Given the description of an element on the screen output the (x, y) to click on. 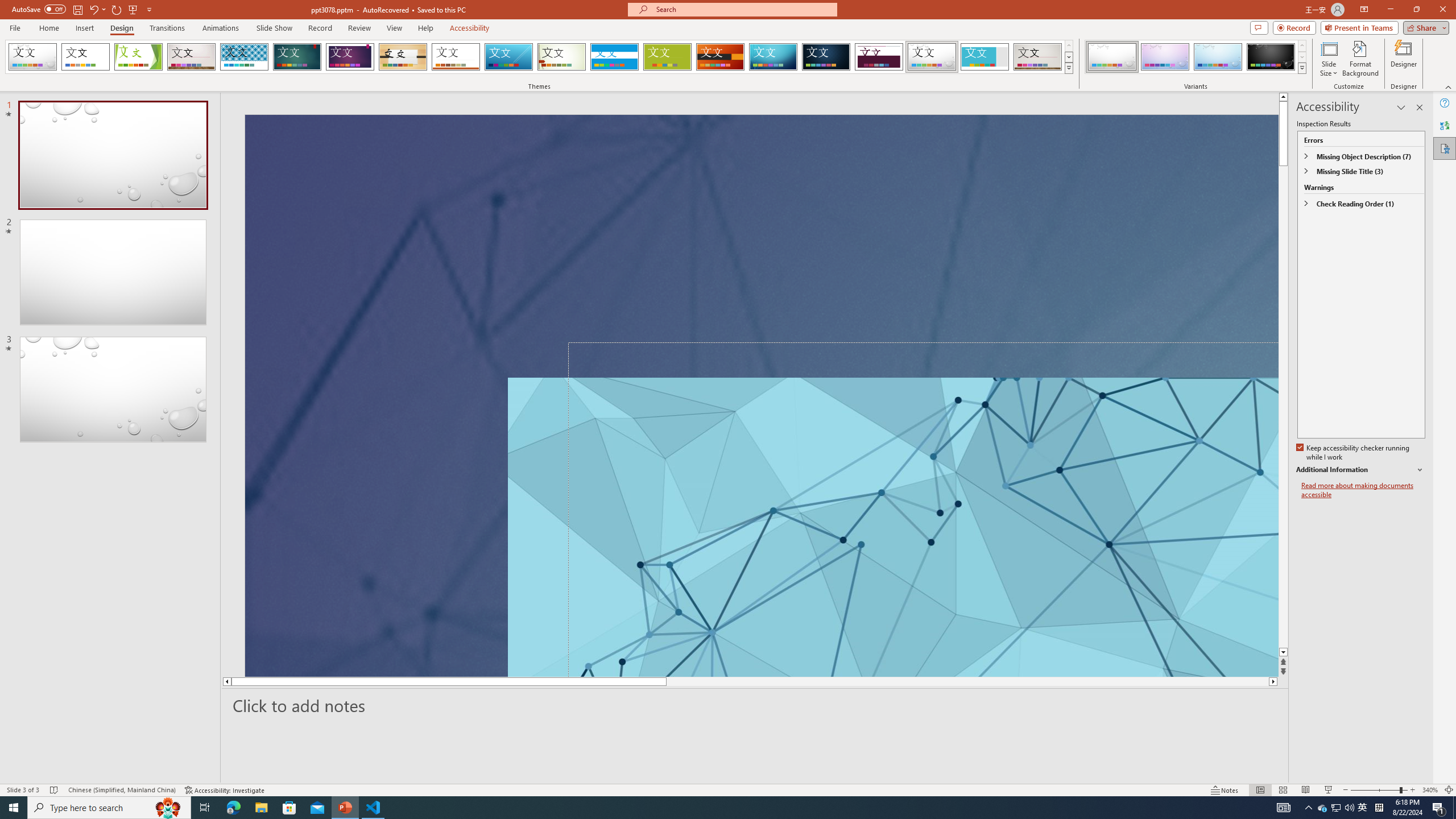
Banded (614, 56)
Integral (244, 56)
Read more about making documents accessible (1363, 489)
Berlin (720, 56)
Themes (1068, 67)
